Given the description of an element on the screen output the (x, y) to click on. 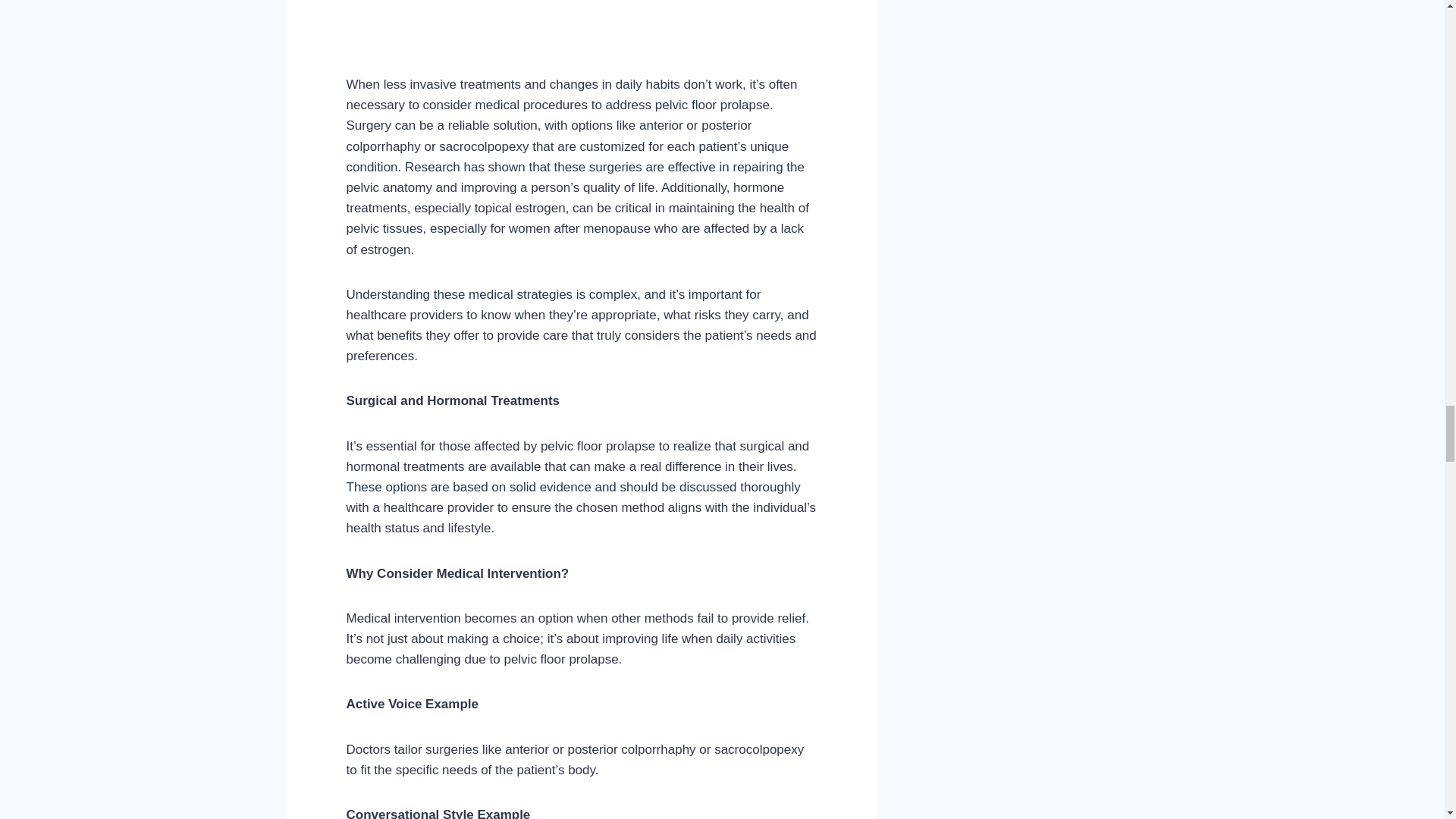
YouTube video player (535, 33)
